Given the description of an element on the screen output the (x, y) to click on. 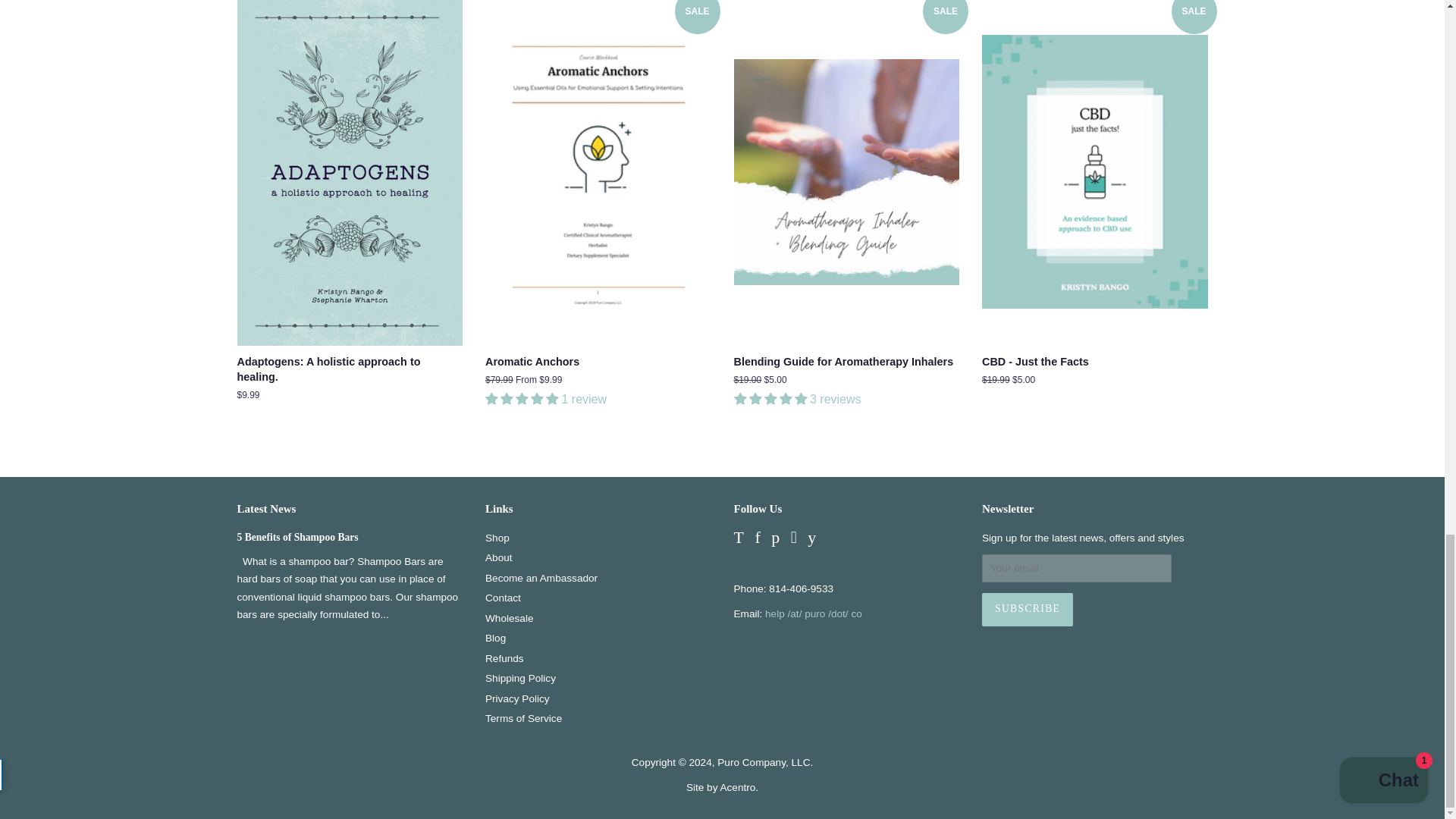
Acentro Systems (737, 787)
Subscribe (1027, 609)
